Given the description of an element on the screen output the (x, y) to click on. 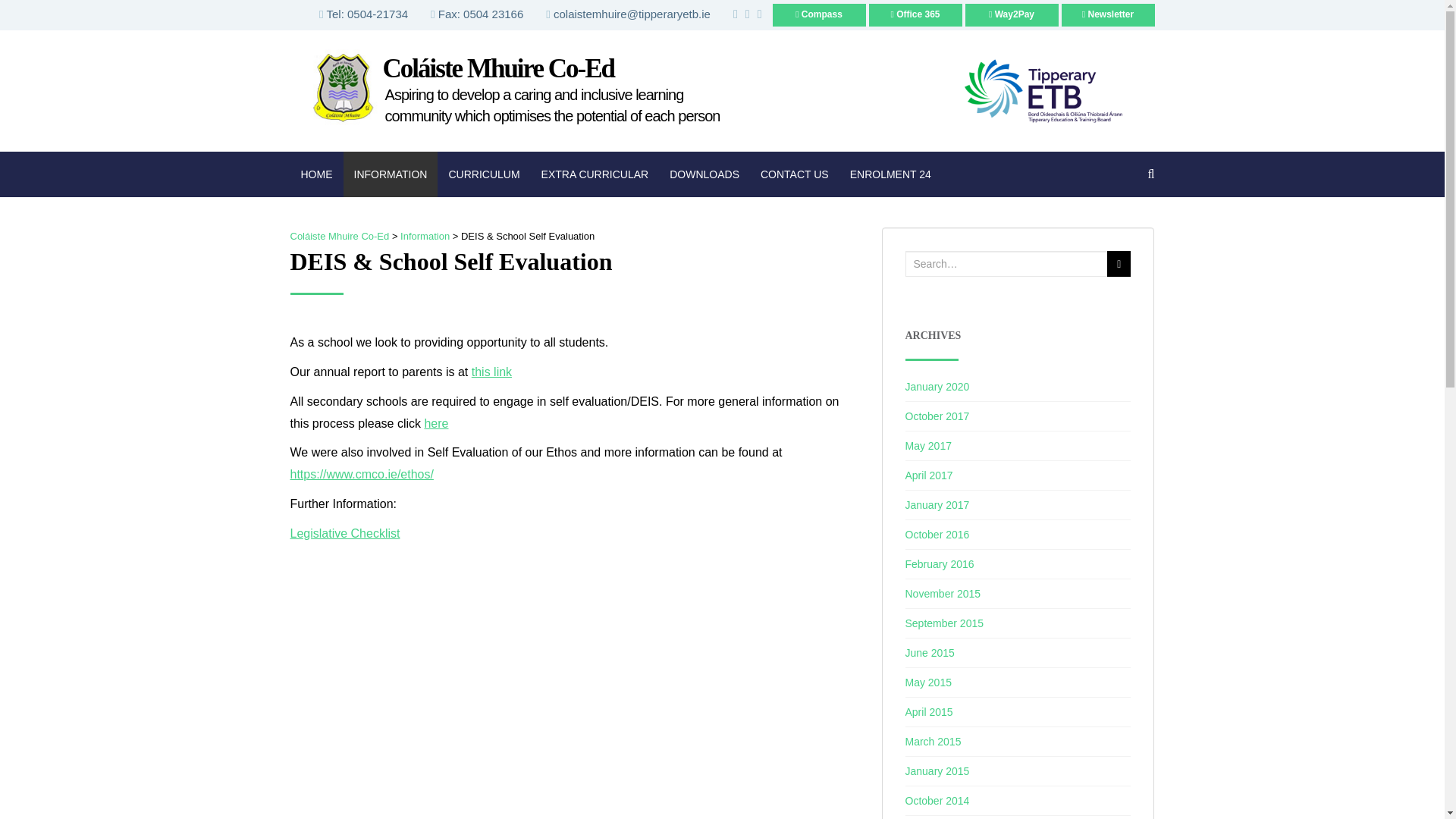
Compass (817, 15)
Search for: (1006, 263)
Newsletter (1107, 15)
Fax: 0504 23166 (476, 14)
HOME (315, 174)
Office 365 (915, 15)
0504-21734 (377, 13)
INFORMATION (390, 174)
Way2Pay (1010, 15)
